Given the description of an element on the screen output the (x, y) to click on. 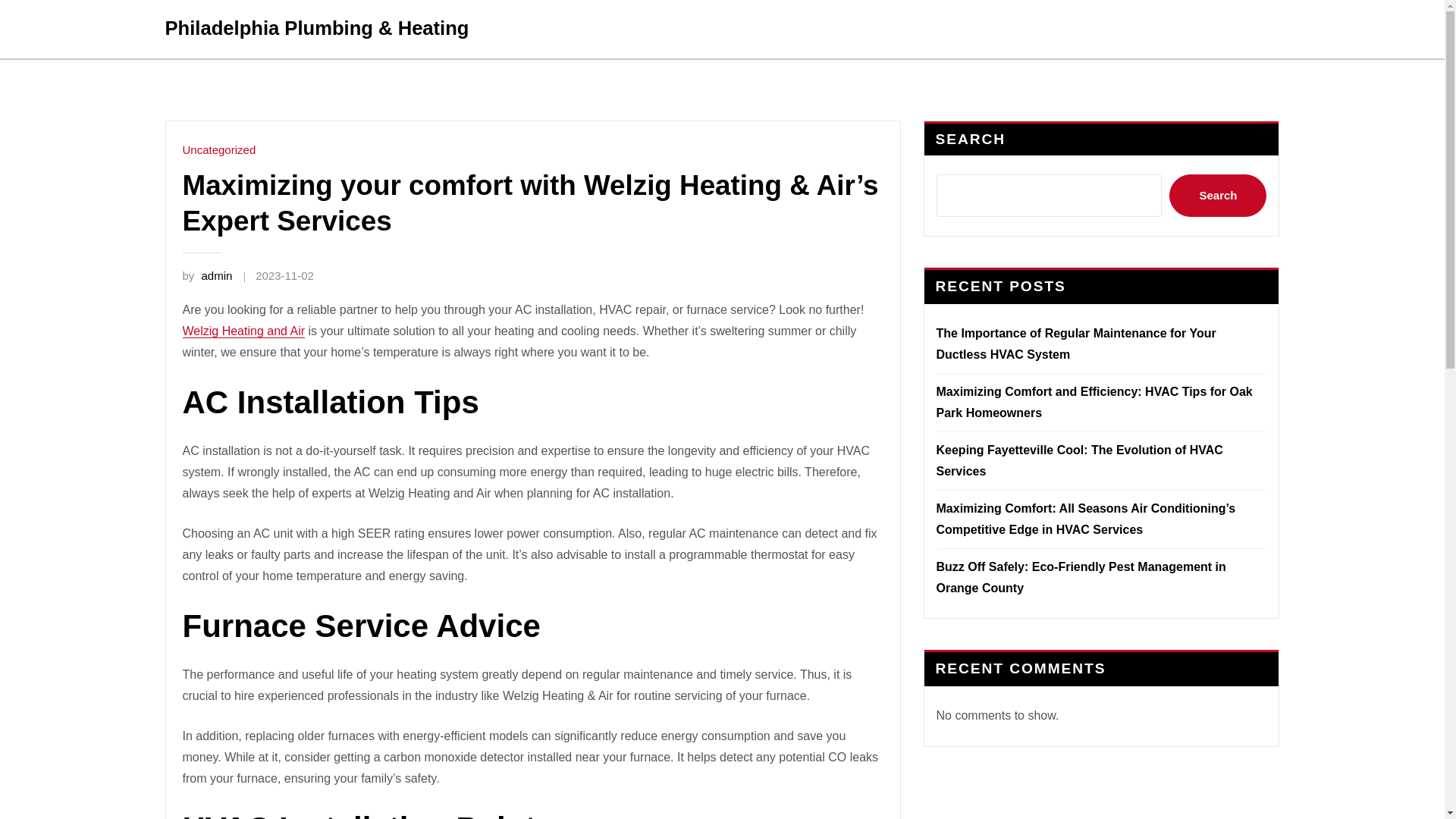
Search (1217, 195)
by admin (206, 275)
Uncategorized (219, 149)
Welzig Heating and Air (243, 330)
2023-11-02 (285, 275)
Keeping Fayetteville Cool: The Evolution of HVAC Services (1079, 460)
